Given the description of an element on the screen output the (x, y) to click on. 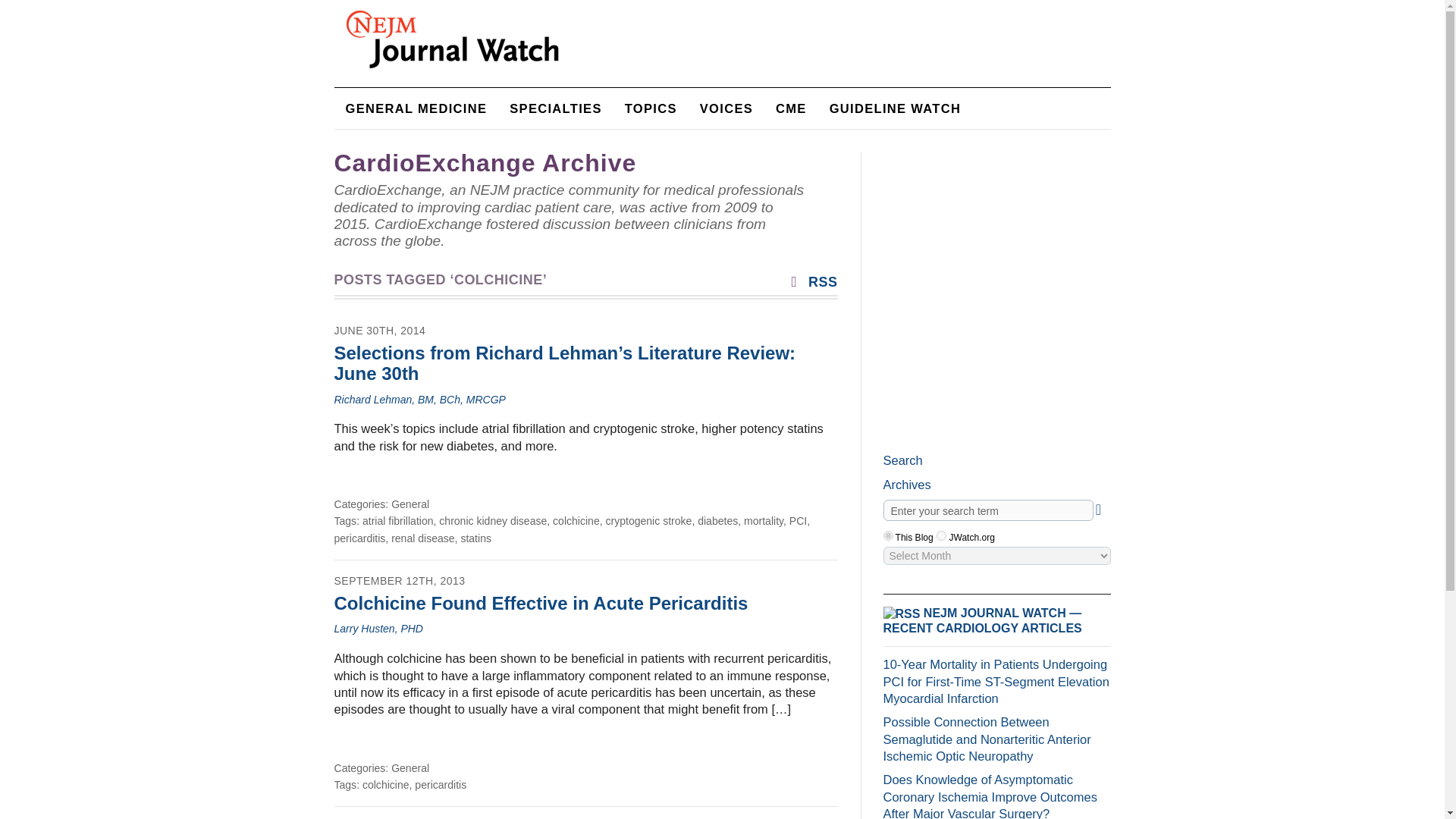
TOPICS (650, 107)
GUIDELINE WATCH (895, 107)
RSS (811, 281)
Posts by Larry Husten, PHD (377, 628)
This Blog (887, 535)
CME (791, 107)
JWatch.org (941, 535)
GENERAL MEDICINE (415, 107)
Enter your search term (987, 509)
CardioExchange Archive (484, 162)
Richard Lehman, BM, BCh, MRCGP (419, 399)
RSS (811, 281)
Posts by Richard Lehman, BM, BCh, MRCGP (419, 399)
VOICES (726, 107)
